Given the description of an element on the screen output the (x, y) to click on. 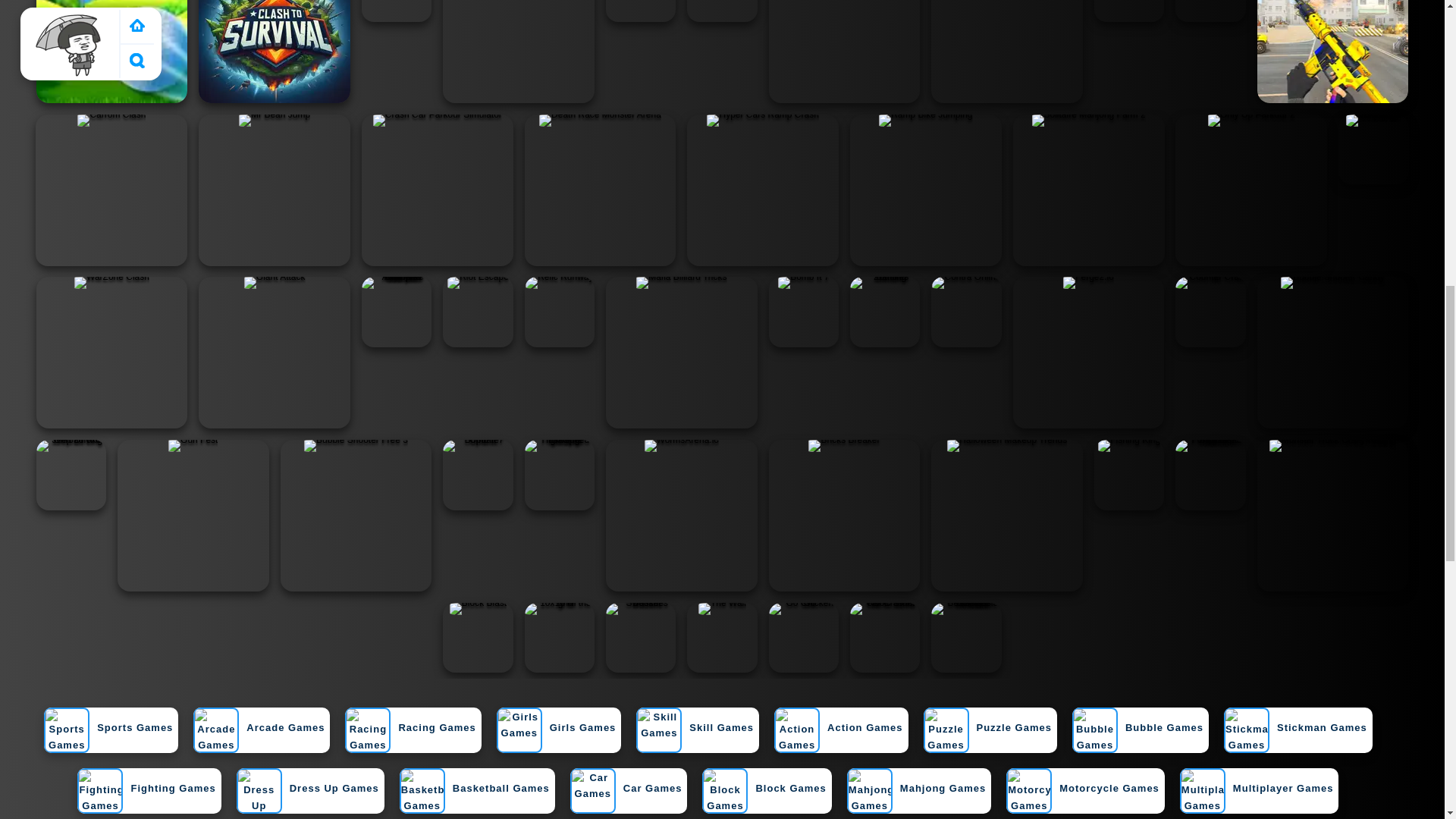
Girls Games (555, 736)
Arcade Games (258, 736)
Skill Games (695, 736)
Action Games (838, 736)
Sports Games (108, 736)
Racing Games (410, 736)
Puzzle Games (987, 736)
